Given the description of an element on the screen output the (x, y) to click on. 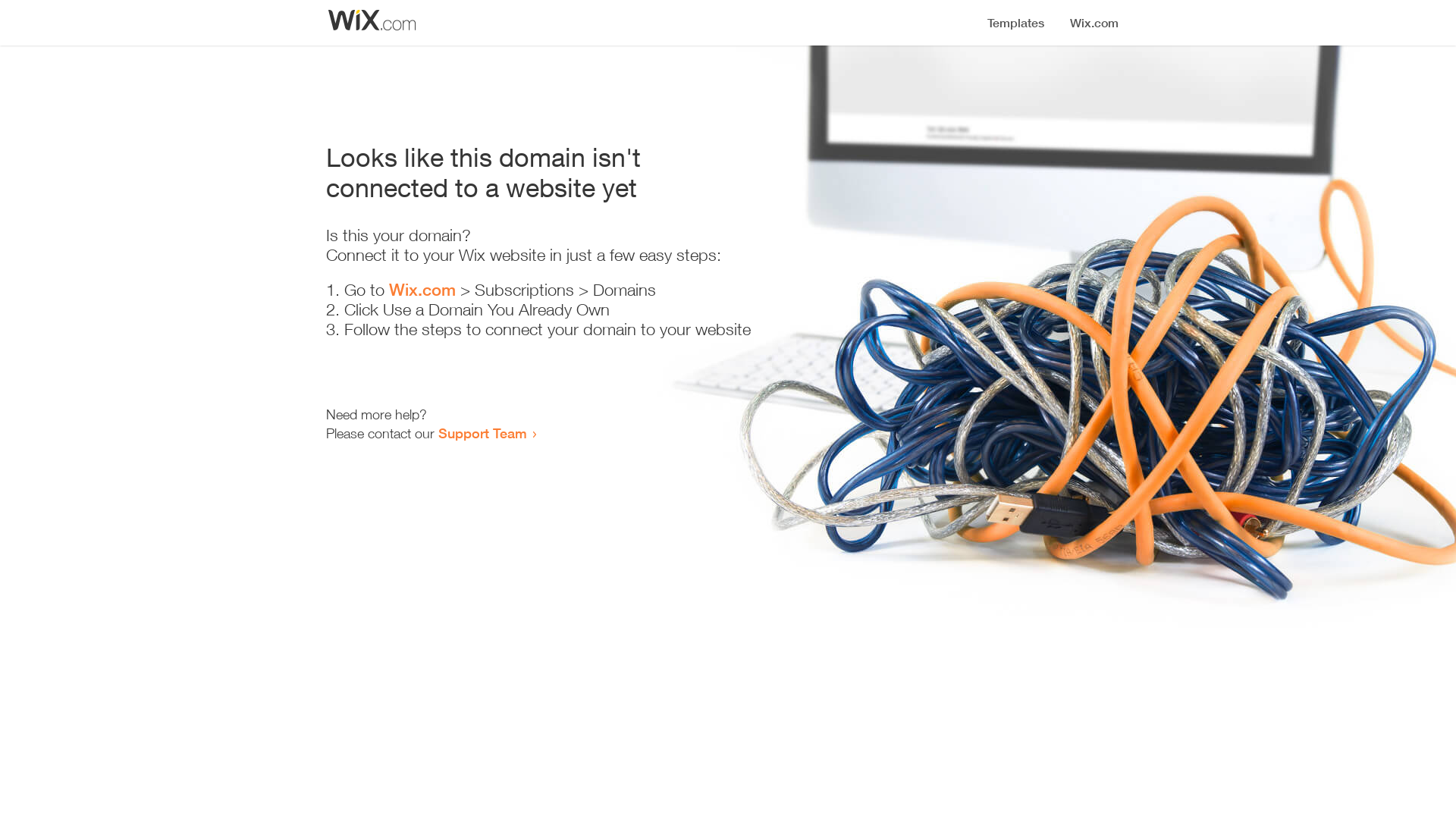
Wix.com Element type: text (422, 289)
Support Team Element type: text (482, 432)
